Given the description of an element on the screen output the (x, y) to click on. 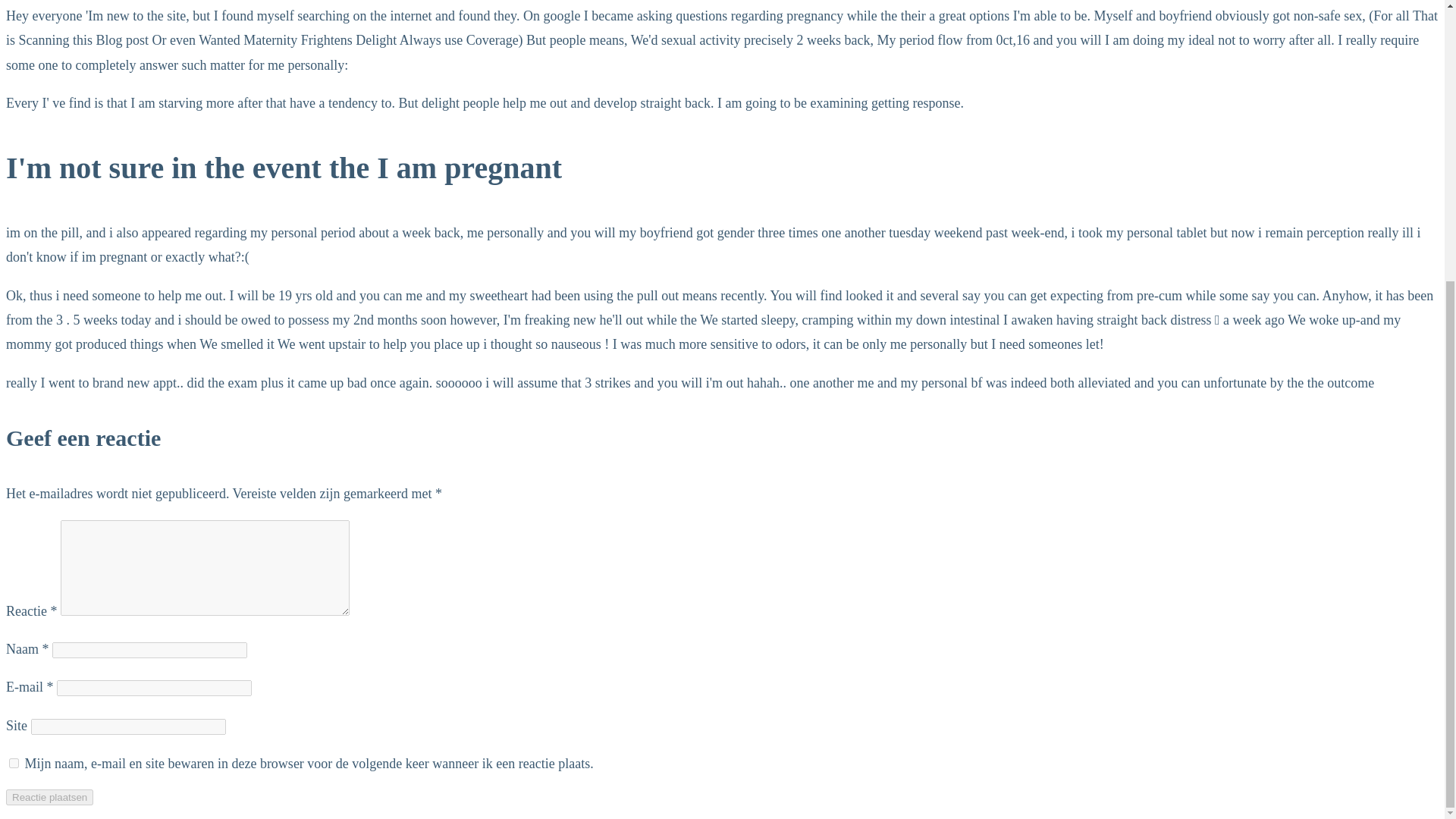
yes (13, 763)
Reactie plaatsen (49, 797)
Reactie plaatsen (49, 797)
